Given the description of an element on the screen output the (x, y) to click on. 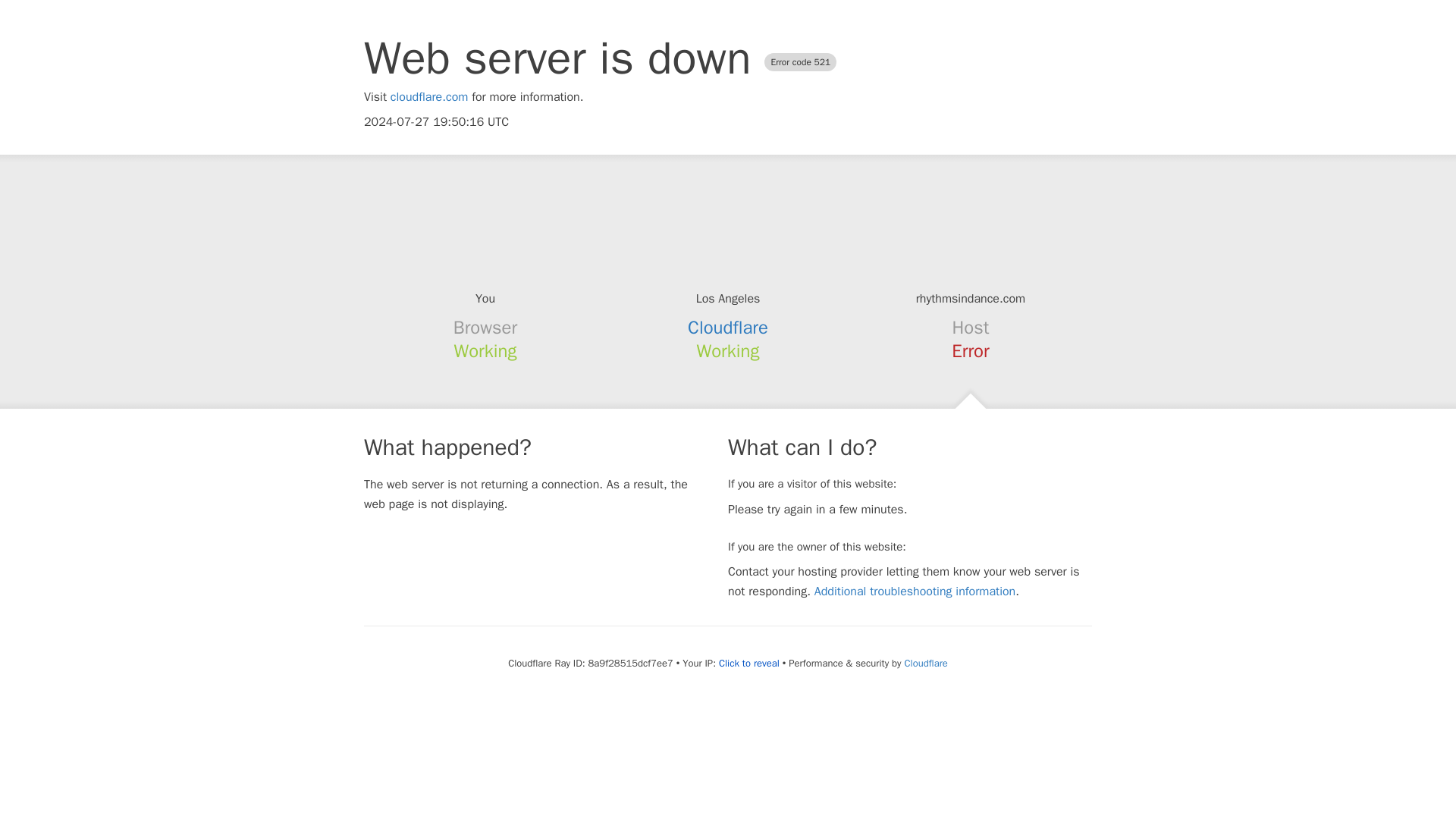
Click to reveal (748, 663)
cloudflare.com (429, 96)
Additional troubleshooting information (913, 590)
Cloudflare (727, 327)
Cloudflare (925, 662)
